Given the description of an element on the screen output the (x, y) to click on. 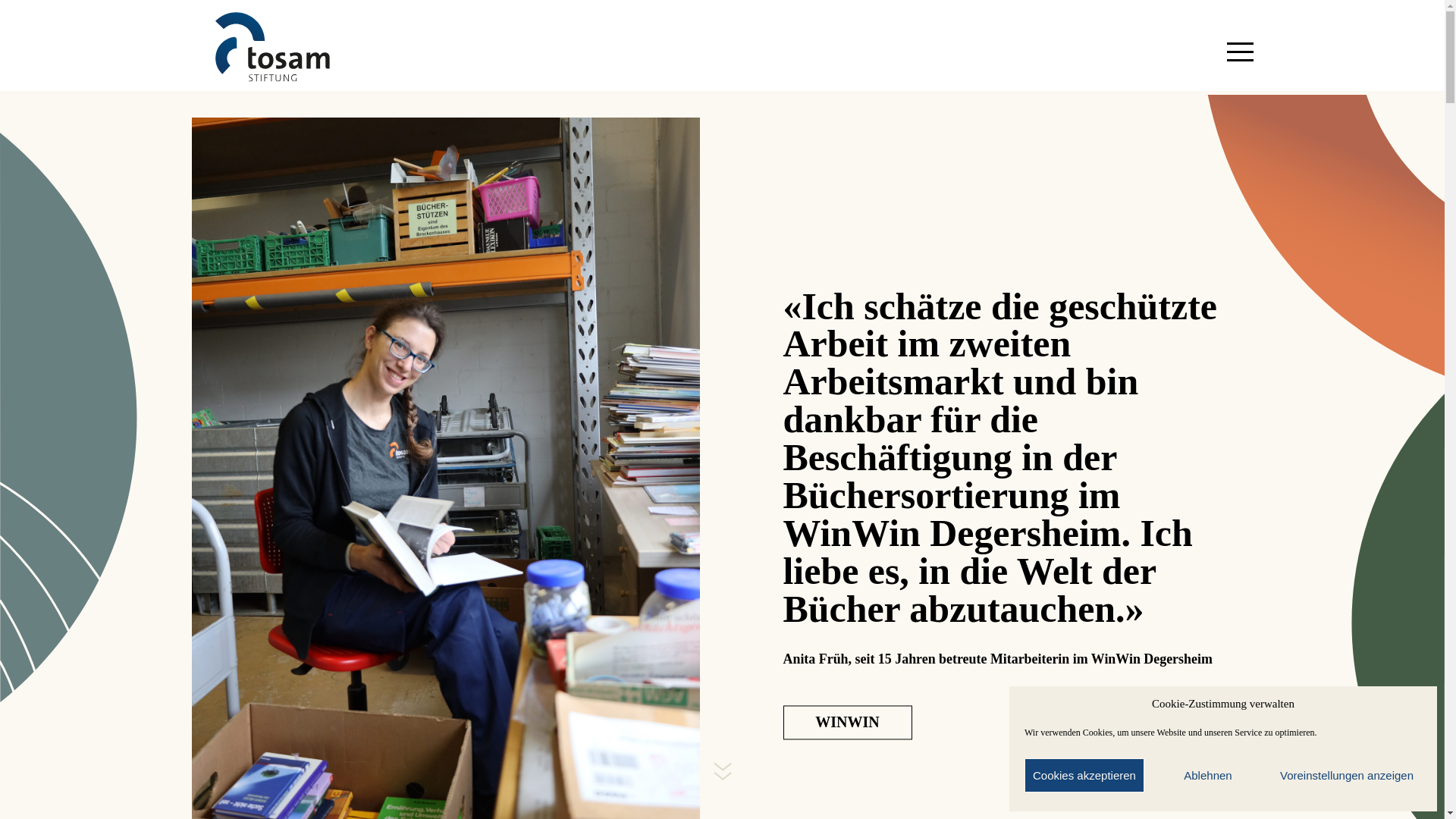
Cookies akzeptieren Element type: text (1084, 775)
Ablehnen Element type: text (1207, 775)
WINWIN Element type: text (846, 722)
Voreinstellungen anzeigen Element type: text (1346, 775)
